Given the description of an element on the screen output the (x, y) to click on. 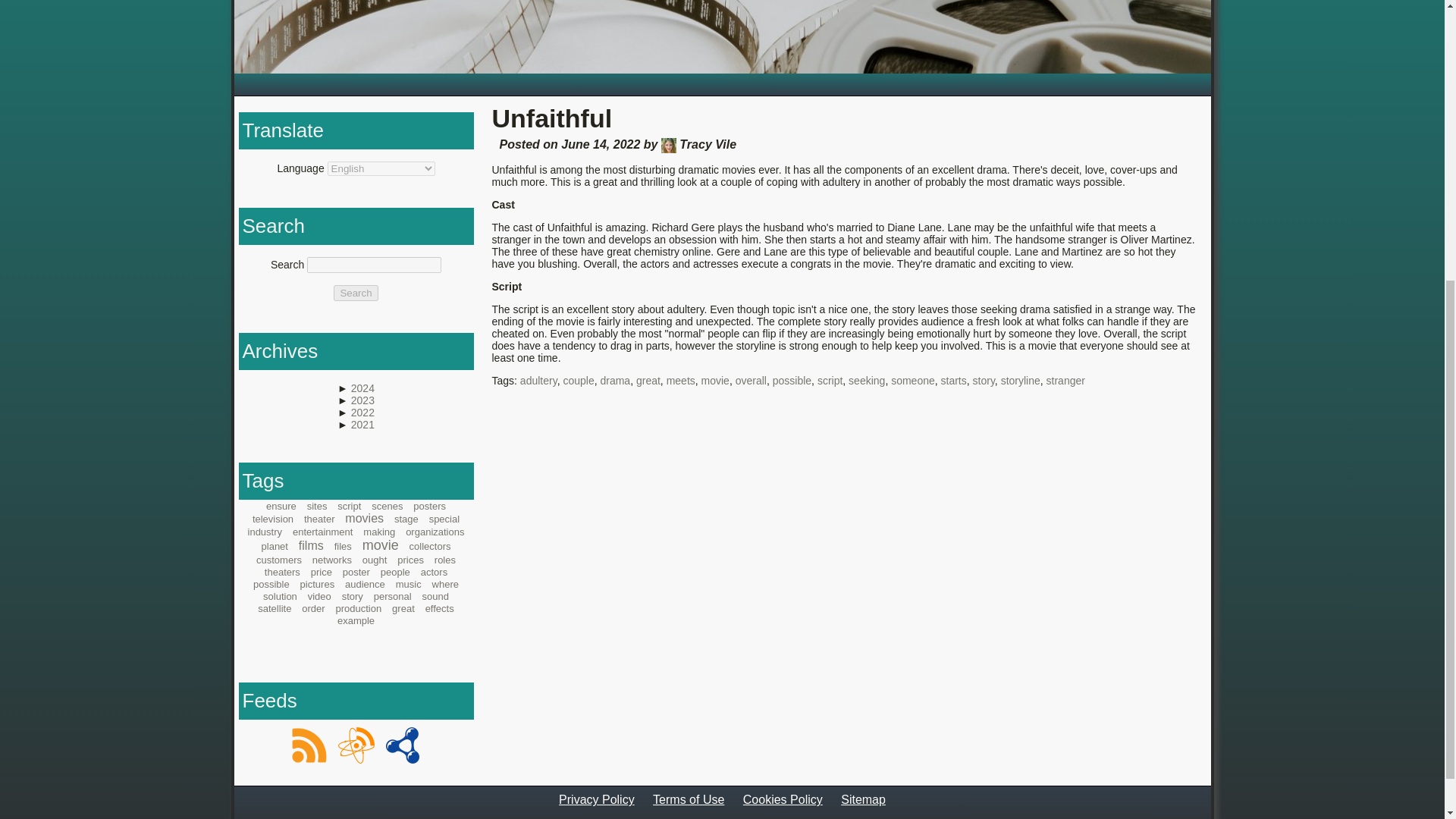
script (829, 380)
someone (912, 380)
RDF Feed (402, 745)
drama (614, 380)
meets (680, 380)
Tracy Vile (669, 145)
Atom Feed (355, 745)
great (648, 380)
couple (578, 380)
2023 (362, 399)
adultery (538, 380)
overall (751, 380)
possible (791, 380)
starts (953, 380)
Rss Feed (309, 745)
